Given the description of an element on the screen output the (x, y) to click on. 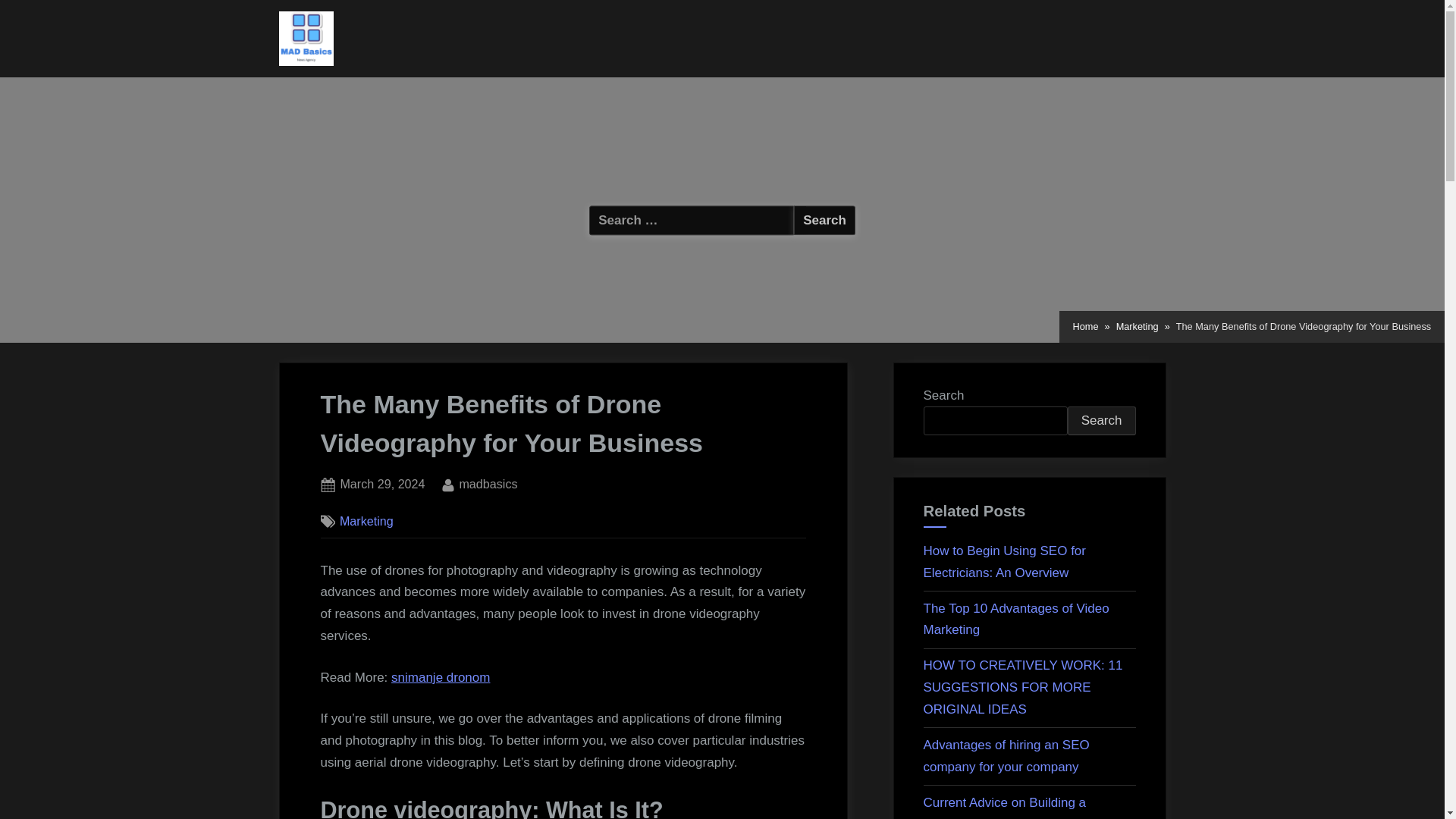
Marketing (366, 520)
snimanje dronom (440, 677)
Search (824, 220)
Advantages of hiring an SEO company for your company (1006, 755)
How to Begin Using SEO for Electricians: An Overview (487, 484)
Marketing (1004, 561)
Current Advice on Building a Healthcare Website (1137, 326)
Search (1004, 807)
Search (382, 484)
Search (1101, 420)
Home (824, 220)
The Top 10 Advantages of Video Marketing (824, 220)
